Given the description of an element on the screen output the (x, y) to click on. 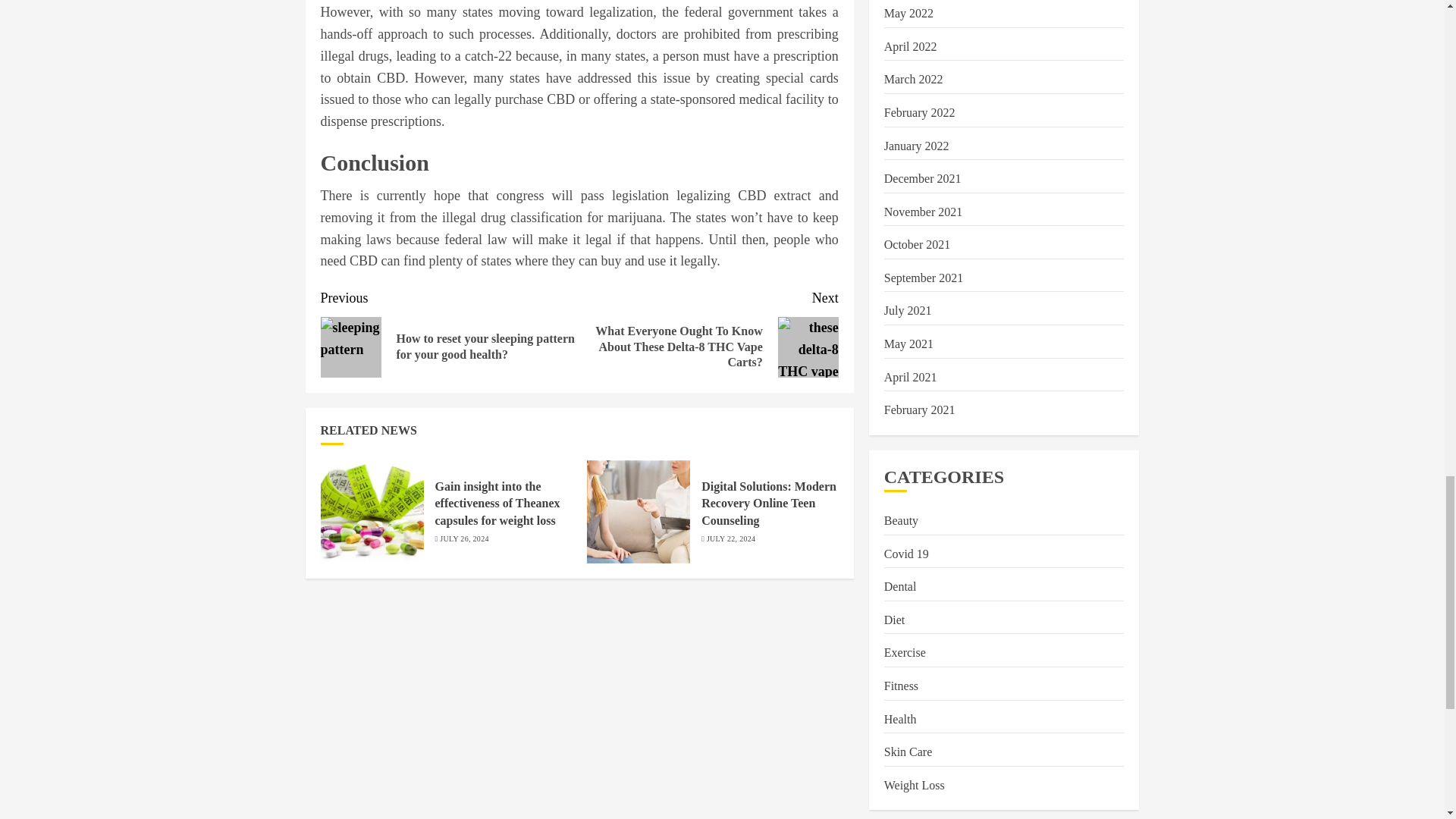
JULY 22, 2024 (730, 538)
Digital Solutions: Modern Recovery Online Teen Counseling (768, 503)
JULY 26, 2024 (463, 538)
